Given the description of an element on the screen output the (x, y) to click on. 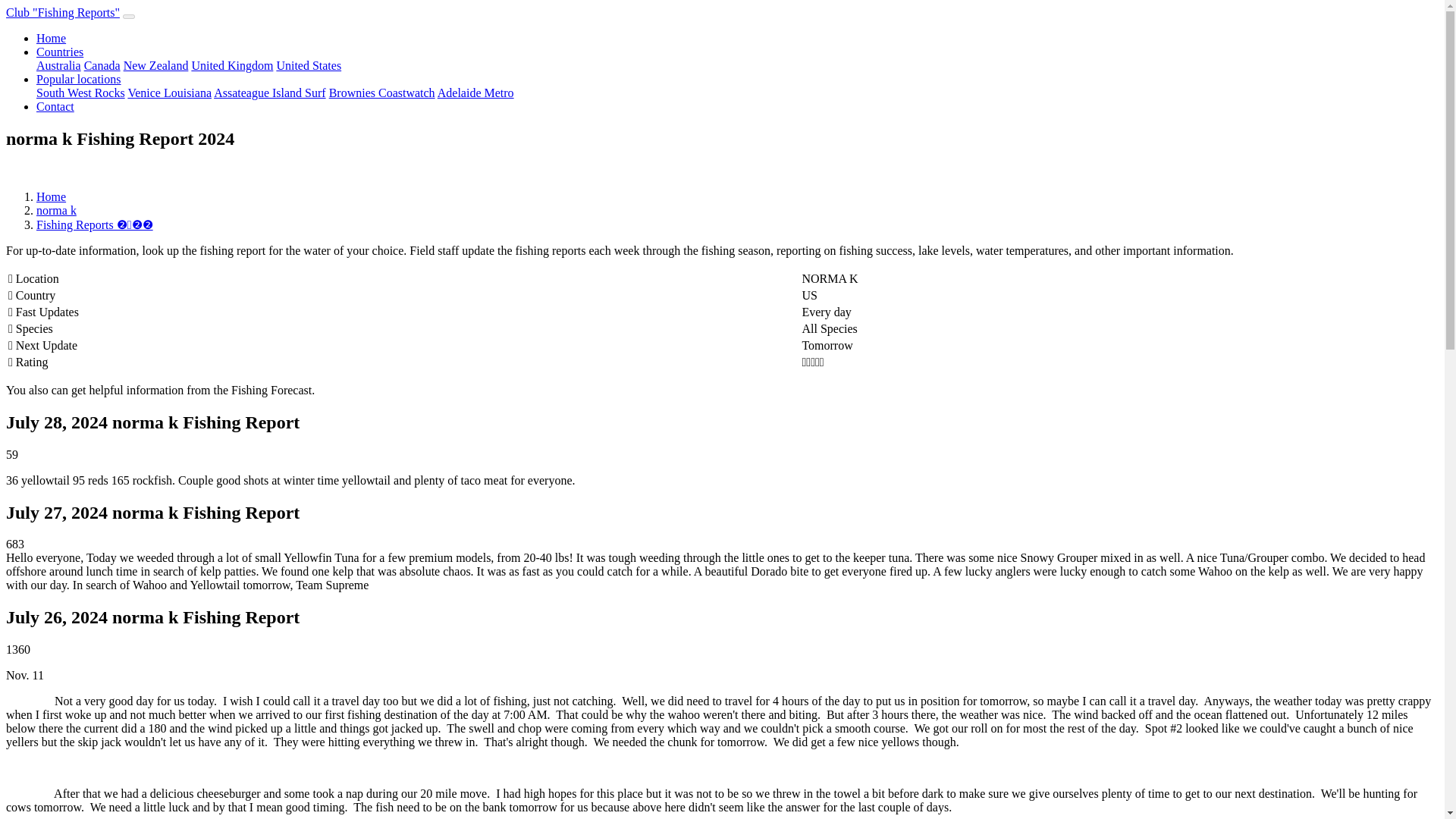
Popular locations (78, 78)
Australia (58, 65)
Home (50, 196)
Home (50, 38)
Club "Fishing Reports" (62, 11)
South West Rocks (80, 92)
Venice Louisiana (169, 92)
United States (308, 65)
Countries (59, 51)
New Zealand (156, 65)
Adelaide Metro (475, 92)
United Kingdom (231, 65)
norma k (56, 210)
Brownies Coastwatch (382, 92)
Canada (102, 65)
